Given the description of an element on the screen output the (x, y) to click on. 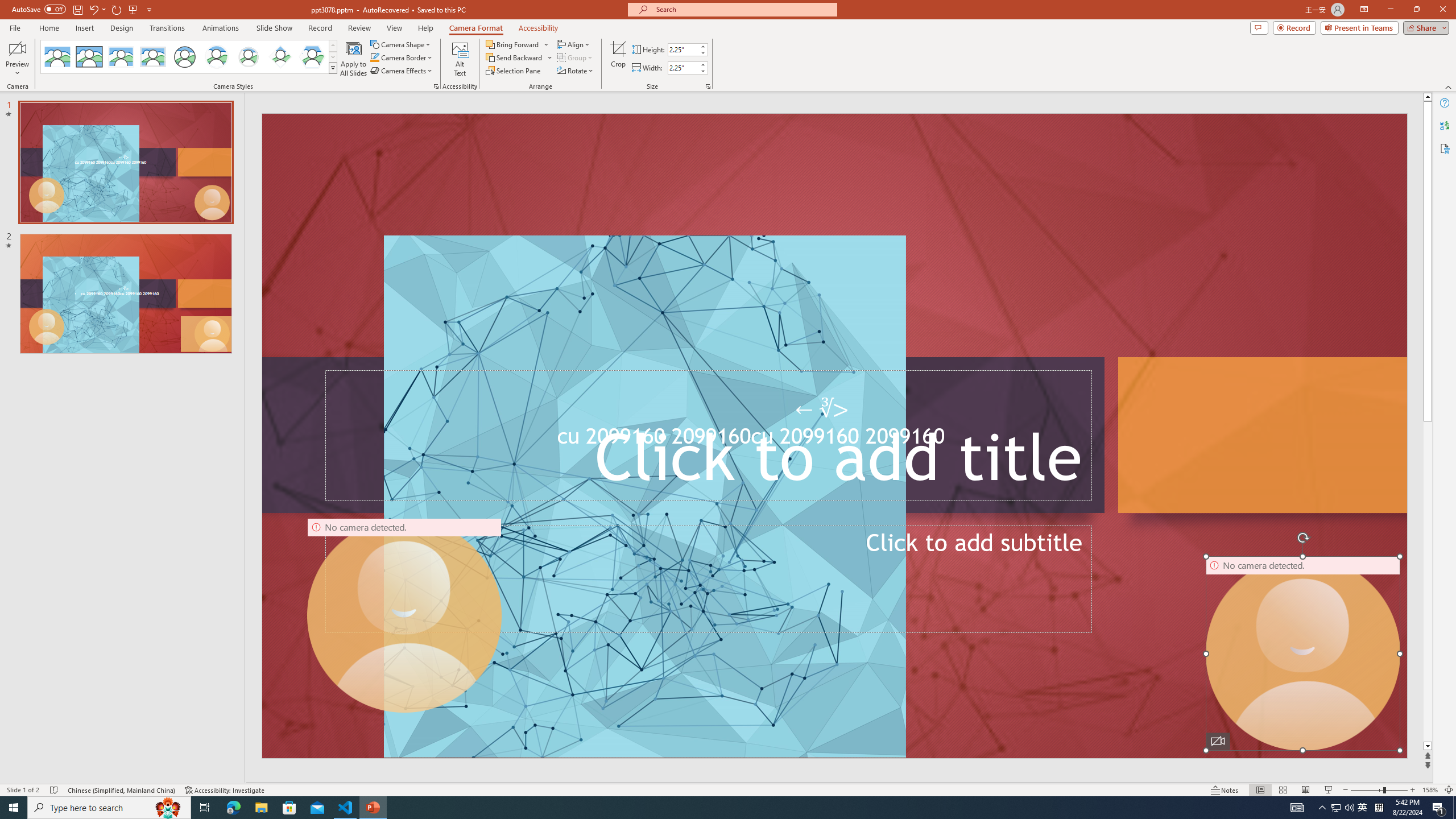
Send Backward (514, 56)
Size and Position... (707, 85)
Crop (617, 58)
Soft Edge Rectangle (152, 56)
Enable Camera Preview (17, 48)
Camera Effects (402, 69)
No Style (57, 56)
An abstract genetic concept (834, 435)
